Given the description of an element on the screen output the (x, y) to click on. 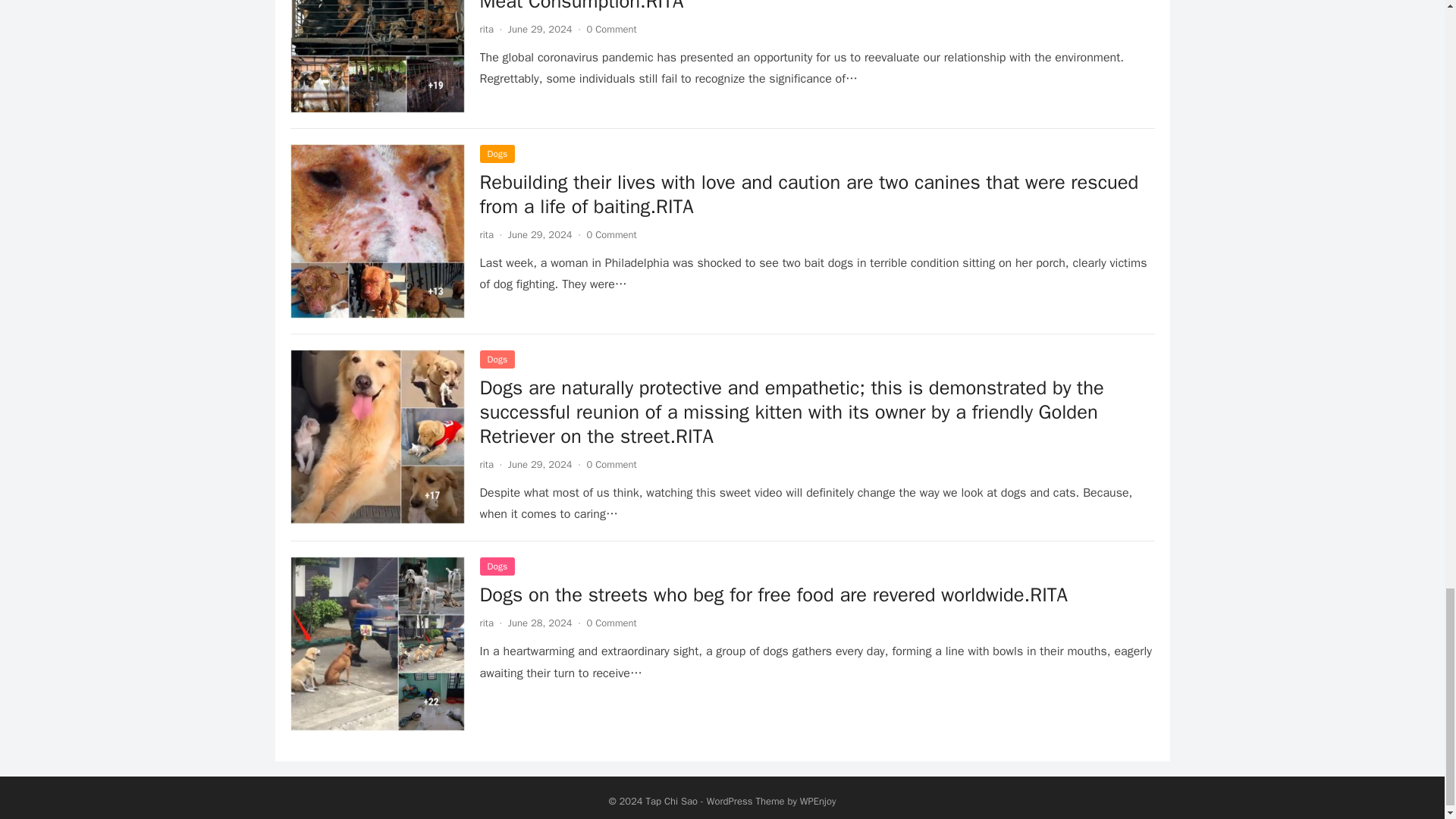
Posts by rita (486, 234)
0 Comment (611, 29)
Posts by rita (486, 622)
rita (486, 29)
Posts by rita (486, 29)
Posts by rita (486, 463)
